Given the description of an element on the screen output the (x, y) to click on. 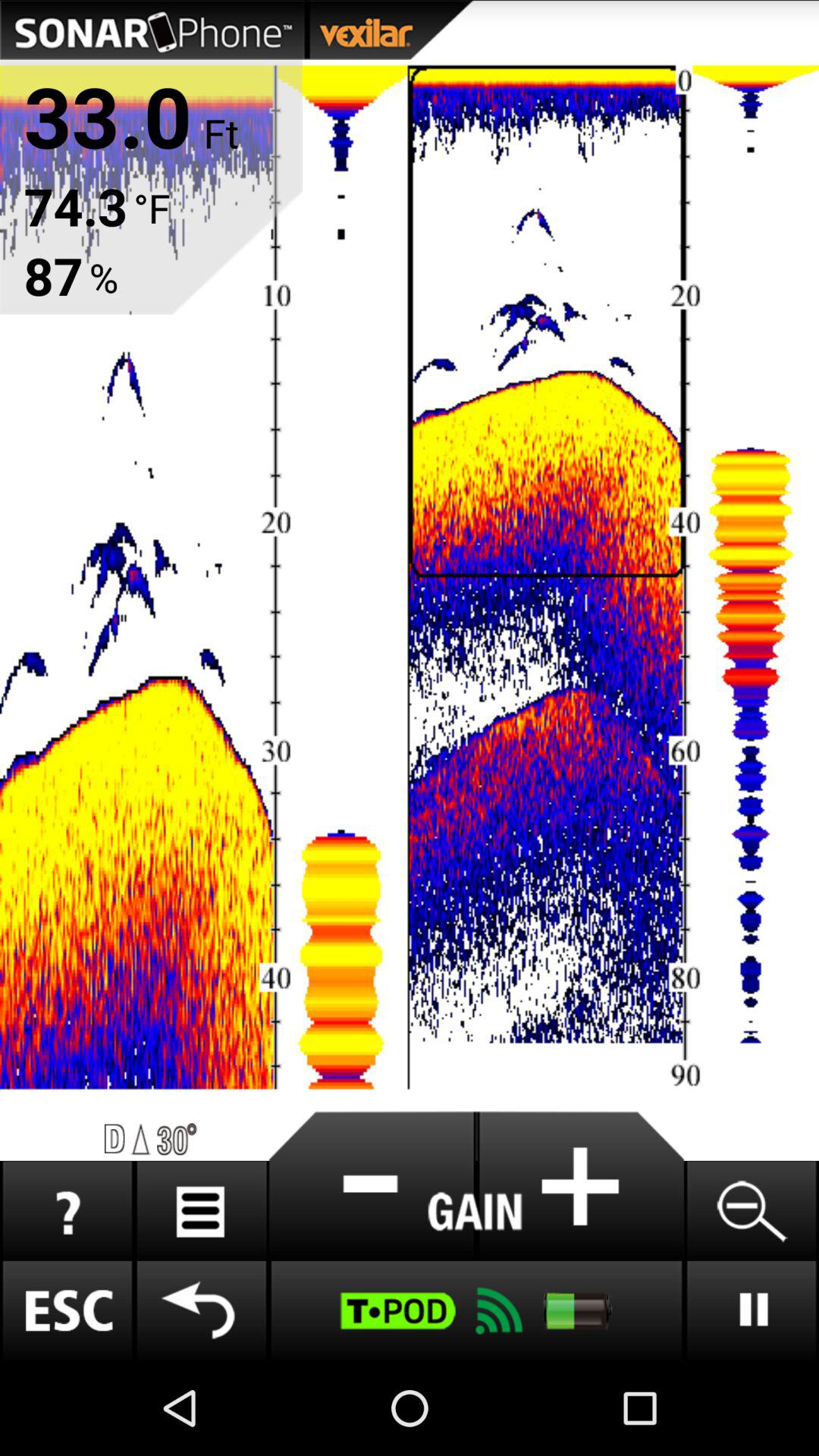
increase size (580, 1185)
